Given the description of an element on the screen output the (x, y) to click on. 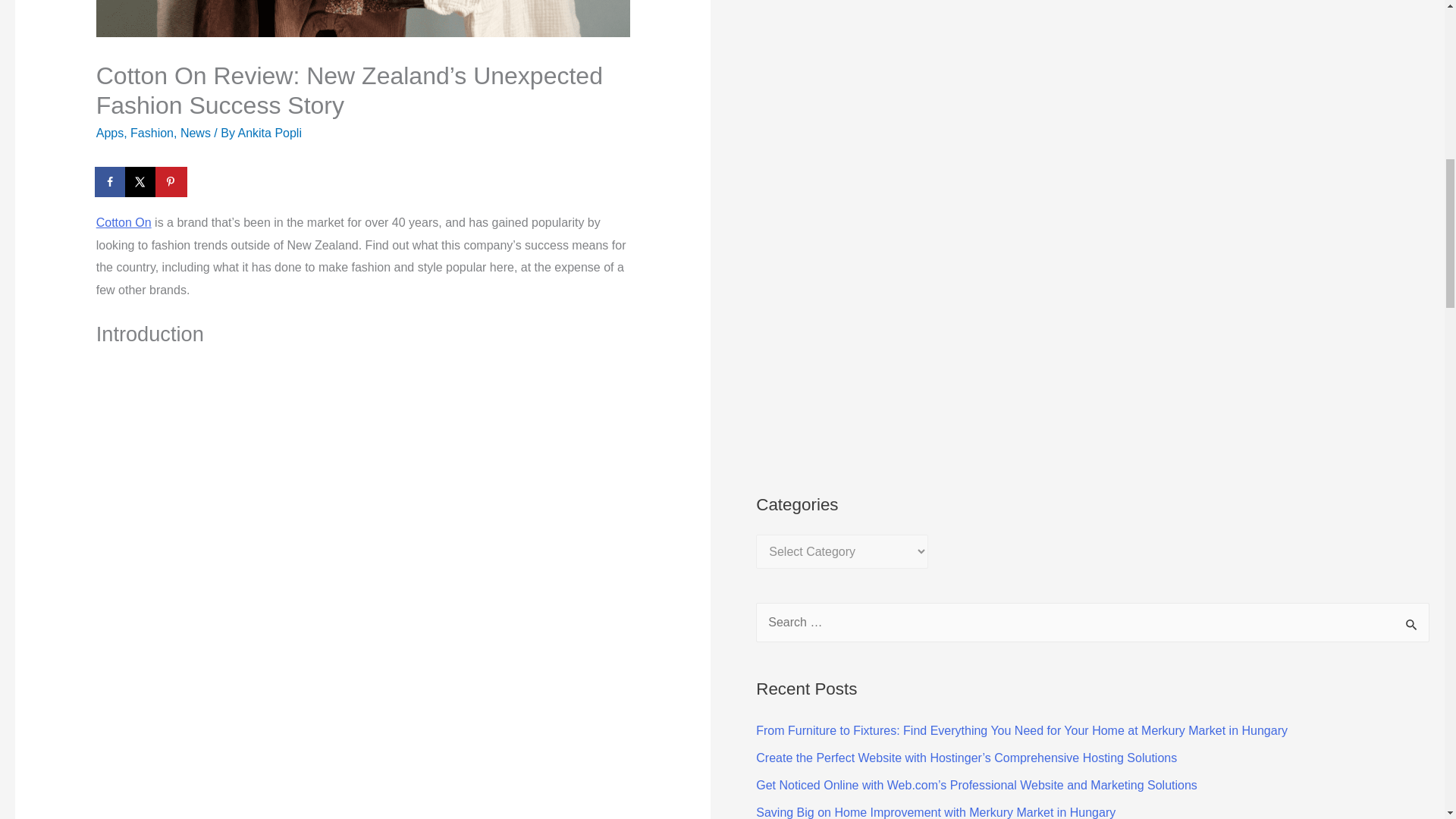
Ankita Popli (269, 132)
Apps (109, 132)
Fashion (152, 132)
View all posts by Ankita Popli (269, 132)
Save to Pinterest (172, 182)
Share on X (141, 182)
News (195, 132)
Cotton On (123, 222)
Share on Facebook (111, 182)
